Given the description of an element on the screen output the (x, y) to click on. 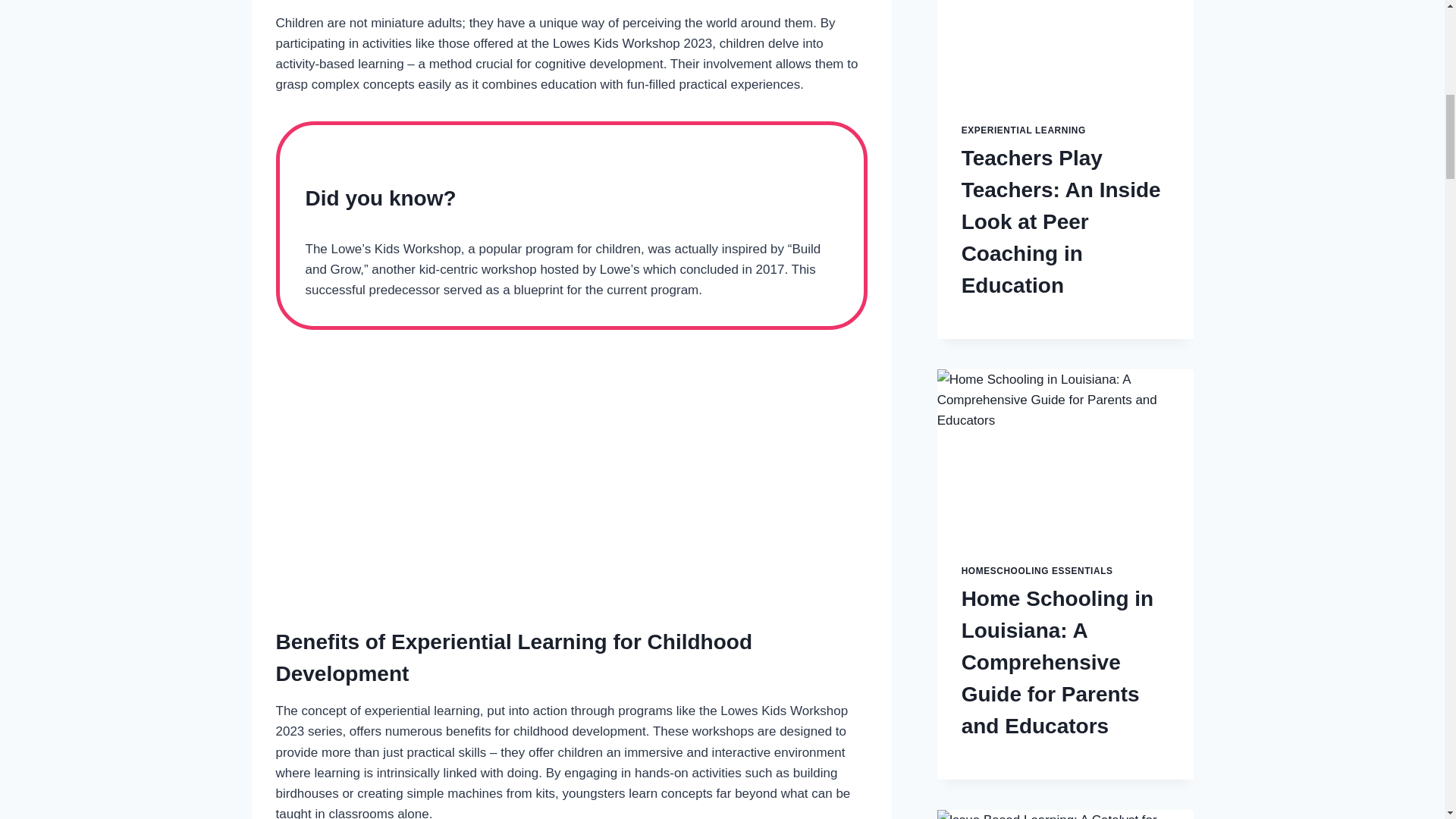
YouTube video player (571, 474)
